Given the description of an element on the screen output the (x, y) to click on. 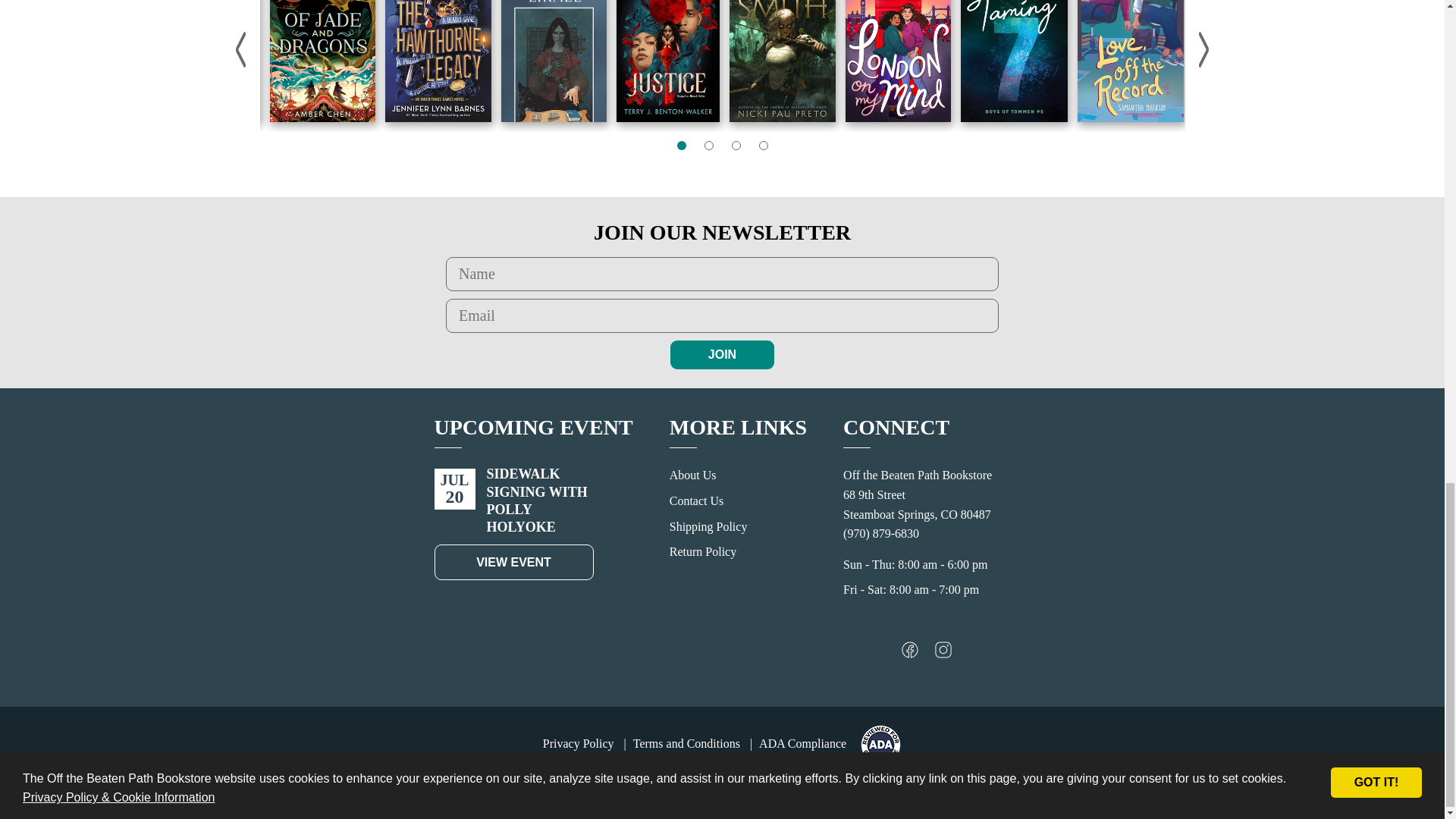
Connect with Instagram (943, 653)
Join (721, 354)
Connect with Facebook (909, 653)
